Given the description of an element on the screen output the (x, y) to click on. 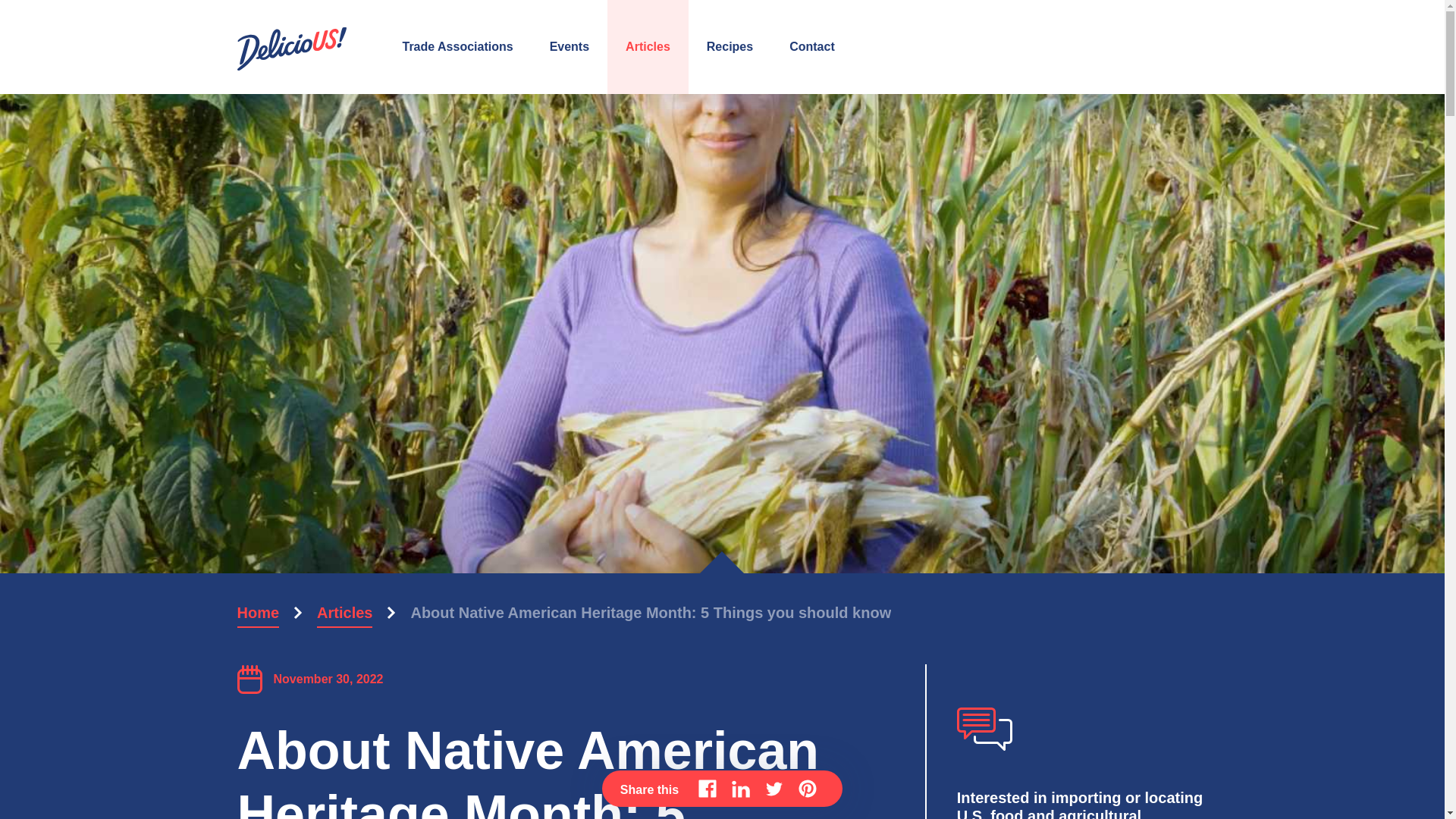
Articles (344, 612)
LinkedIn (740, 788)
Pinterest (806, 788)
Trade Associations (457, 47)
Home (257, 612)
Twitter (774, 788)
Facebook (707, 788)
